Given the description of an element on the screen output the (x, y) to click on. 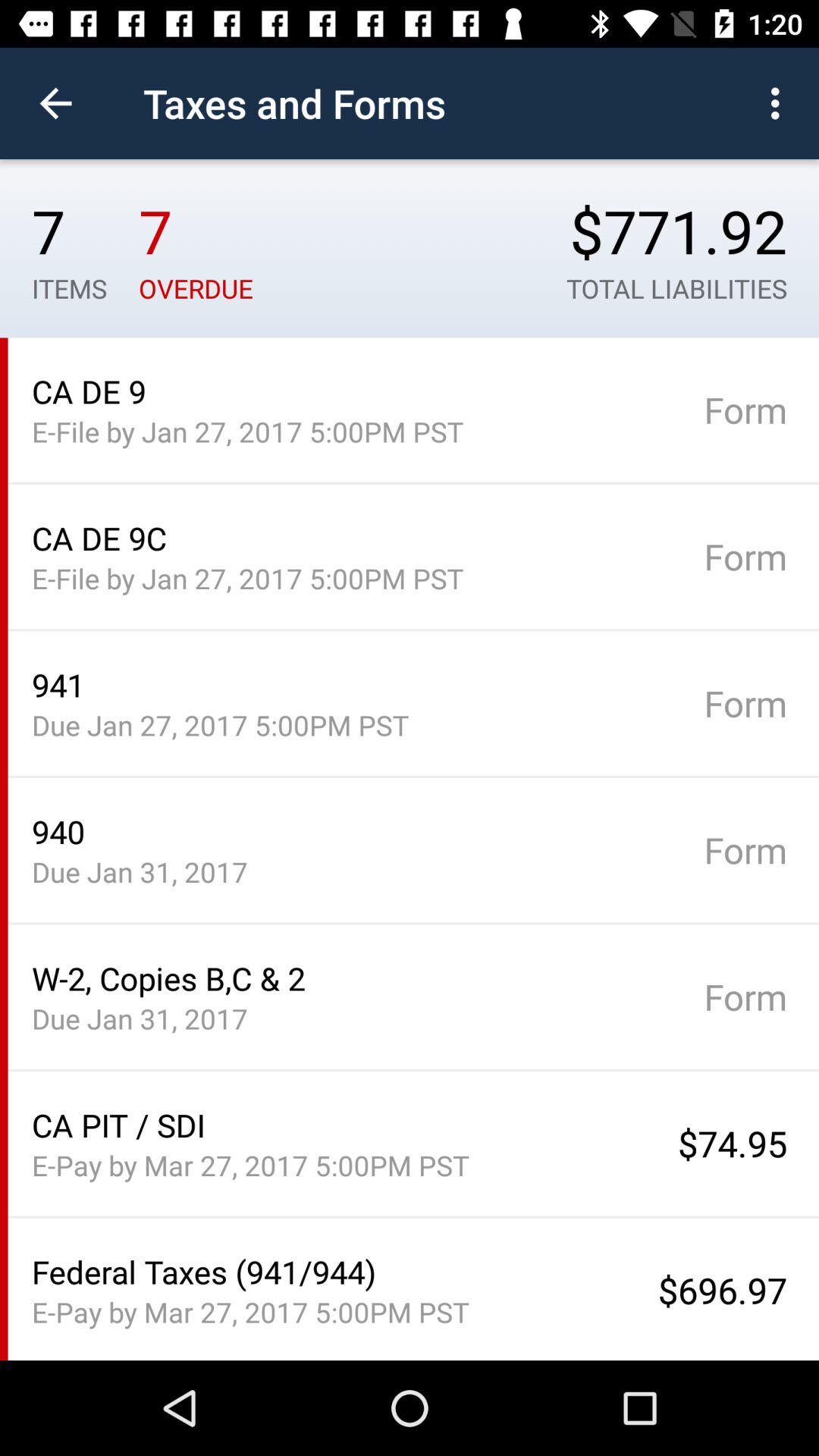
press item next to taxes and forms icon (779, 103)
